Given the description of an element on the screen output the (x, y) to click on. 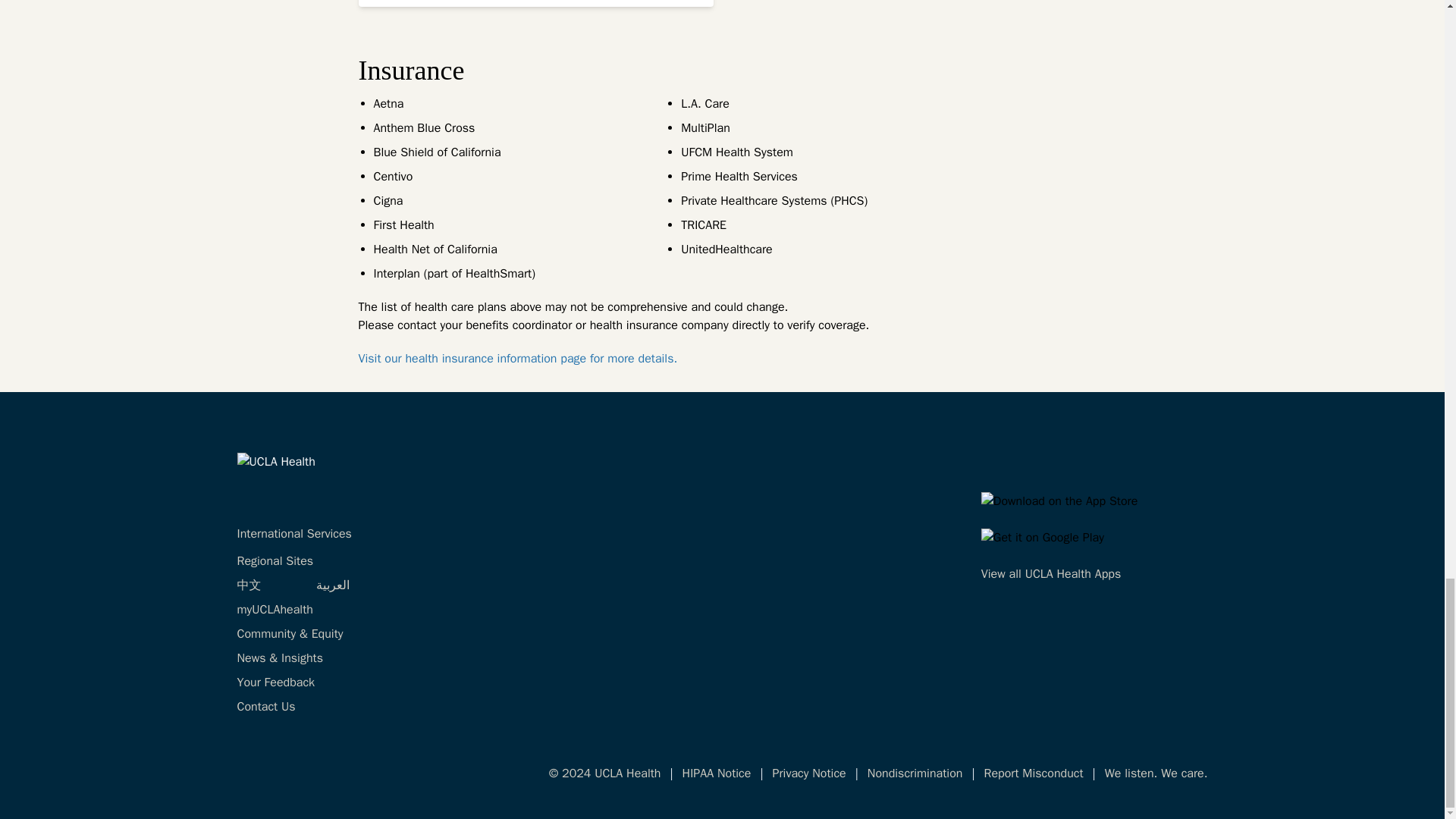
myUCLAhealth Login. (274, 609)
